Given the description of an element on the screen output the (x, y) to click on. 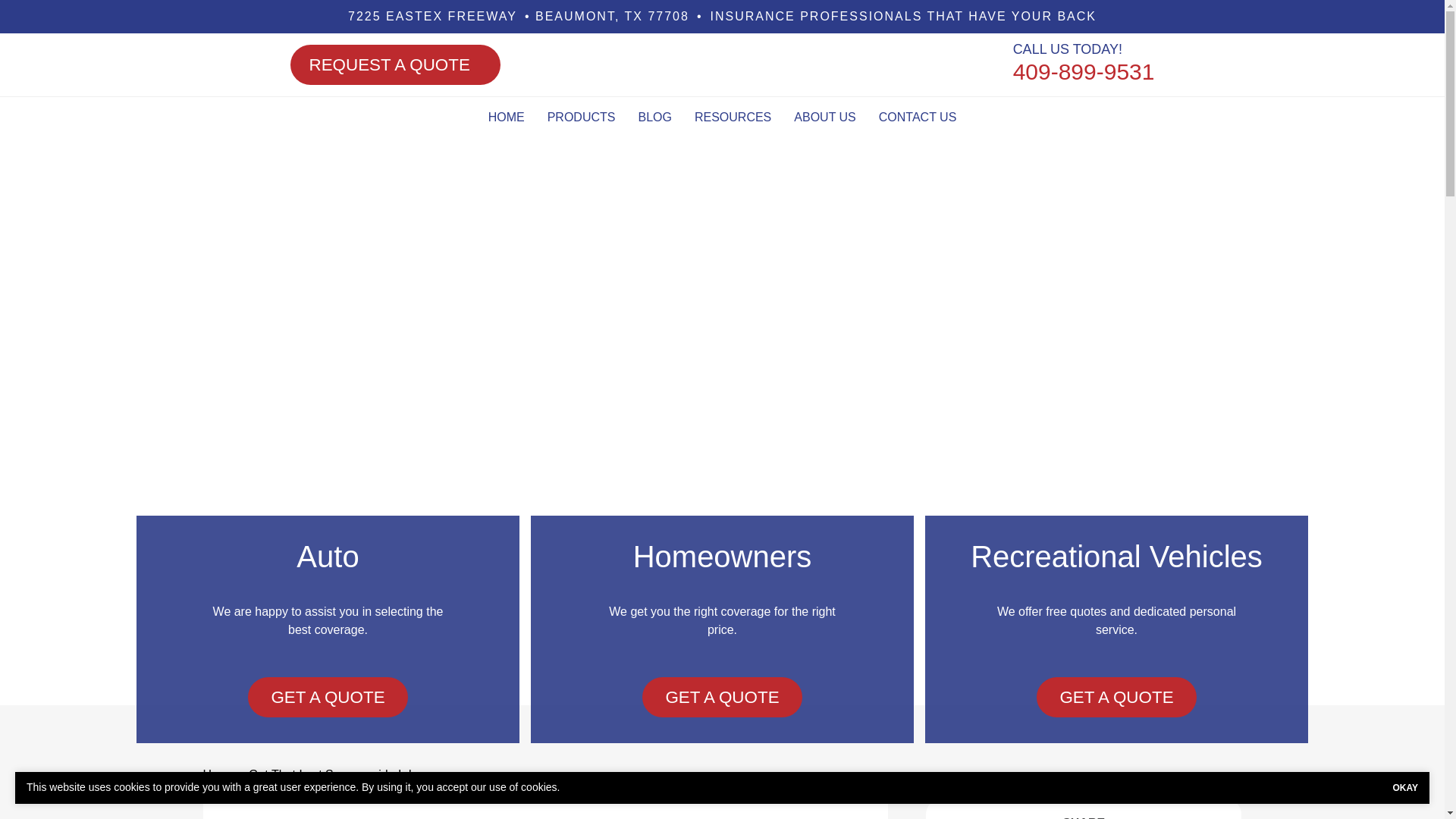
GET A QUOTE (327, 697)
BLOG (654, 117)
GET A QUOTE (1115, 750)
REQUEST A QUOTE (394, 65)
PRODUCTS (581, 117)
GET A QUOTE (722, 708)
Home (219, 774)
CONTACT US (917, 117)
RESOURCES (732, 117)
HOME (506, 117)
